Given the description of an element on the screen output the (x, y) to click on. 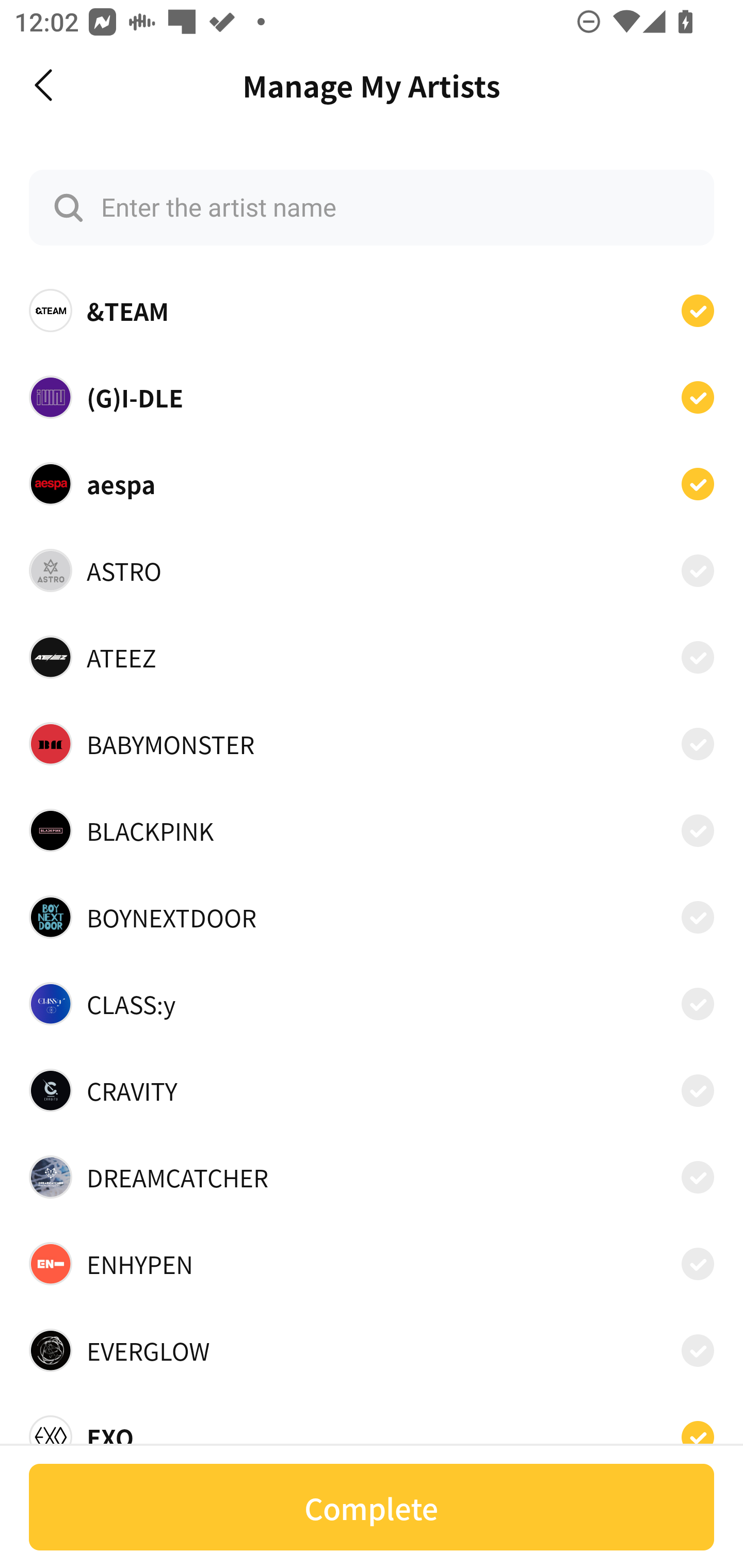
Enter the artist name (371, 207)
&TEAM (371, 310)
(G)I-DLE (371, 396)
aespa (371, 483)
ASTRO (371, 570)
ATEEZ (371, 656)
BABYMONSTER (371, 743)
BLACKPINK (371, 830)
BOYNEXTDOOR (371, 917)
CLASS:y (371, 1003)
CRAVITY (371, 1090)
DREAMCATCHER (371, 1176)
ENHYPEN (371, 1263)
EVERGLOW (371, 1350)
EXO (371, 1430)
Complete (371, 1507)
